Given the description of an element on the screen output the (x, y) to click on. 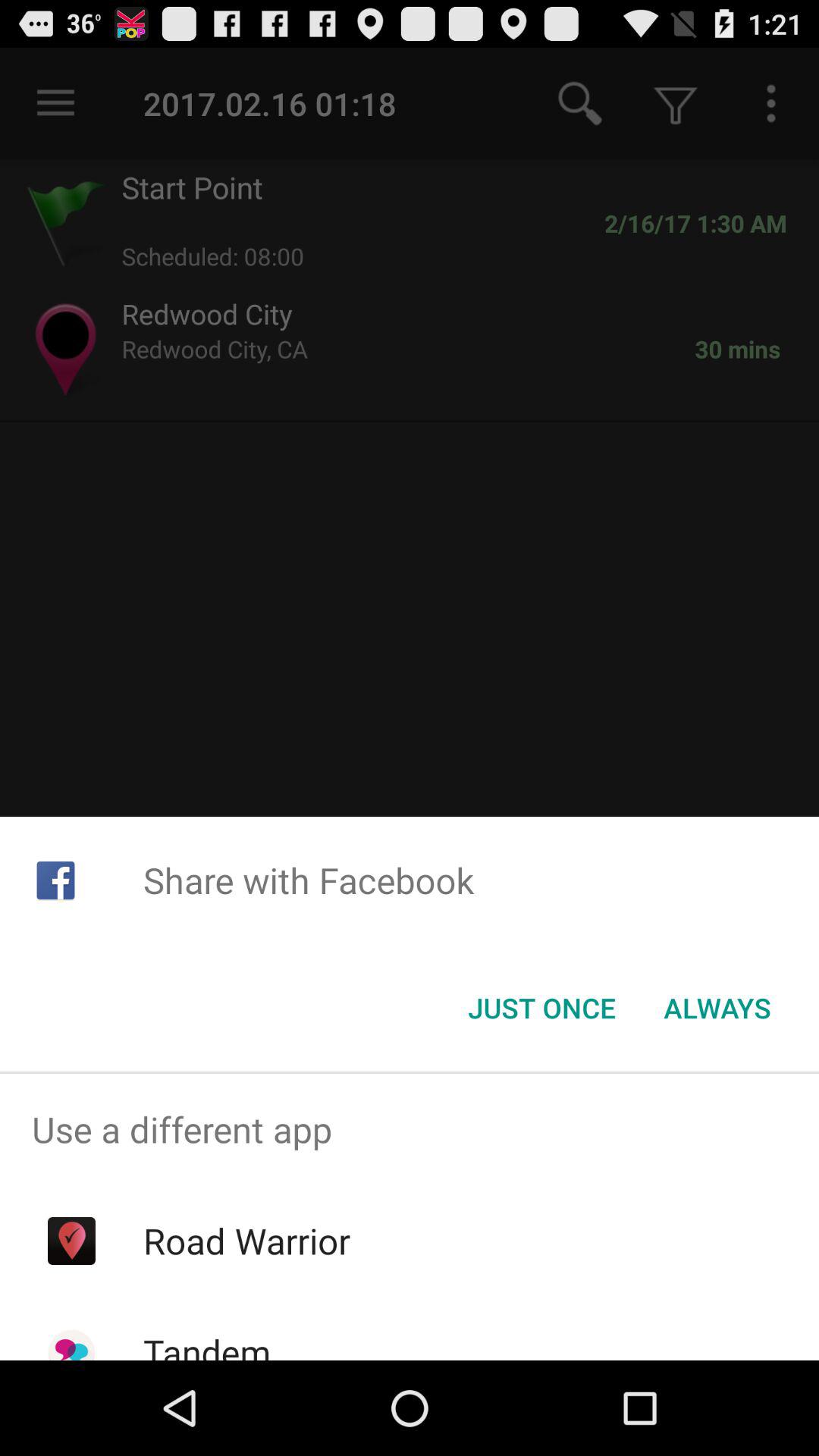
flip until road warrior icon (246, 1240)
